Given the description of an element on the screen output the (x, y) to click on. 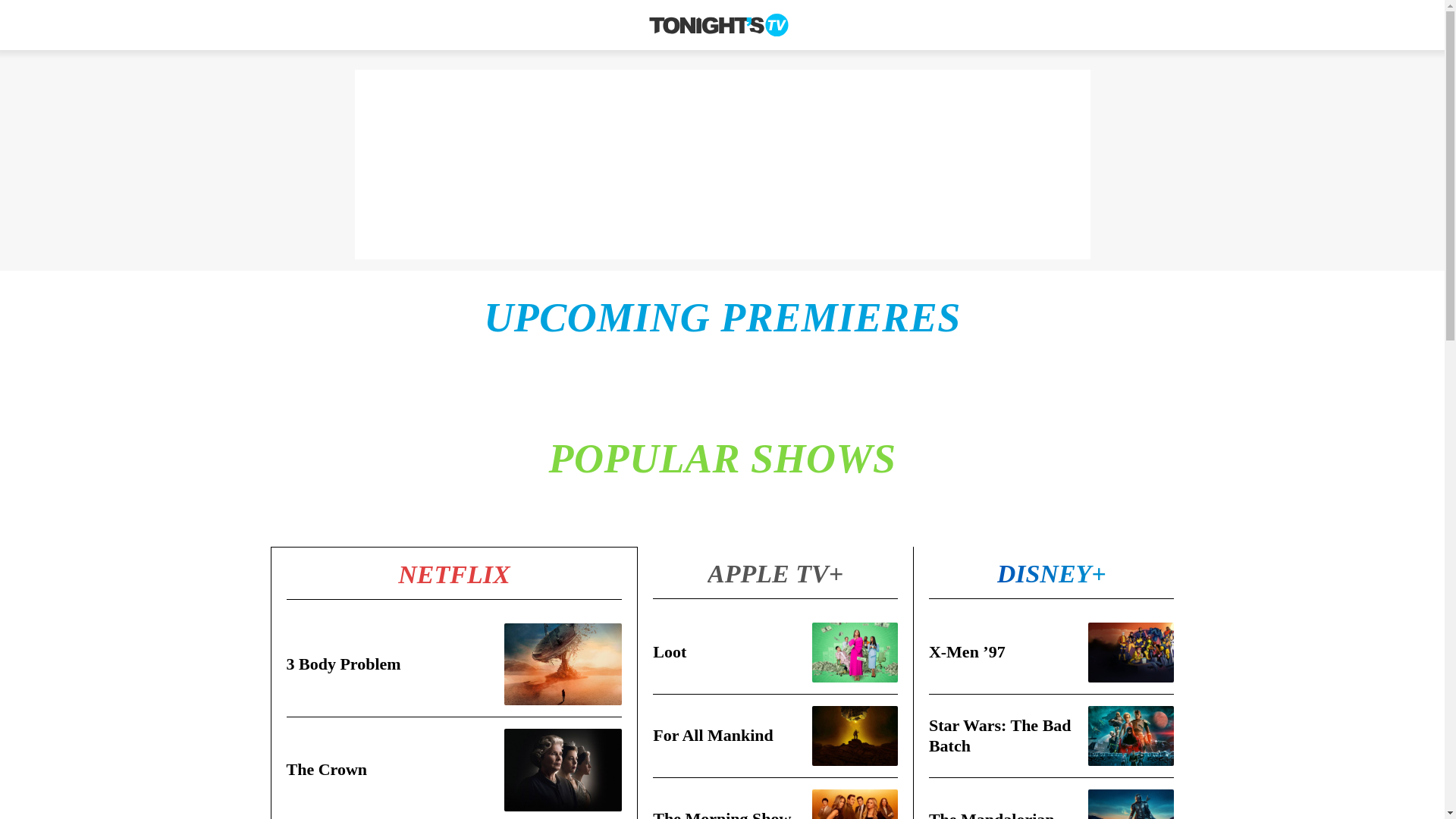
The Crown (327, 769)
The Crown (562, 769)
Loot (668, 651)
3 Body Problem (343, 663)
Loot (668, 651)
For All Mankind (712, 734)
3 Body Problem (343, 663)
The Morning Show (721, 814)
The Crown (327, 769)
Star Wars: The Bad Batch (999, 734)
Loot (855, 652)
